Given the description of an element on the screen output the (x, y) to click on. 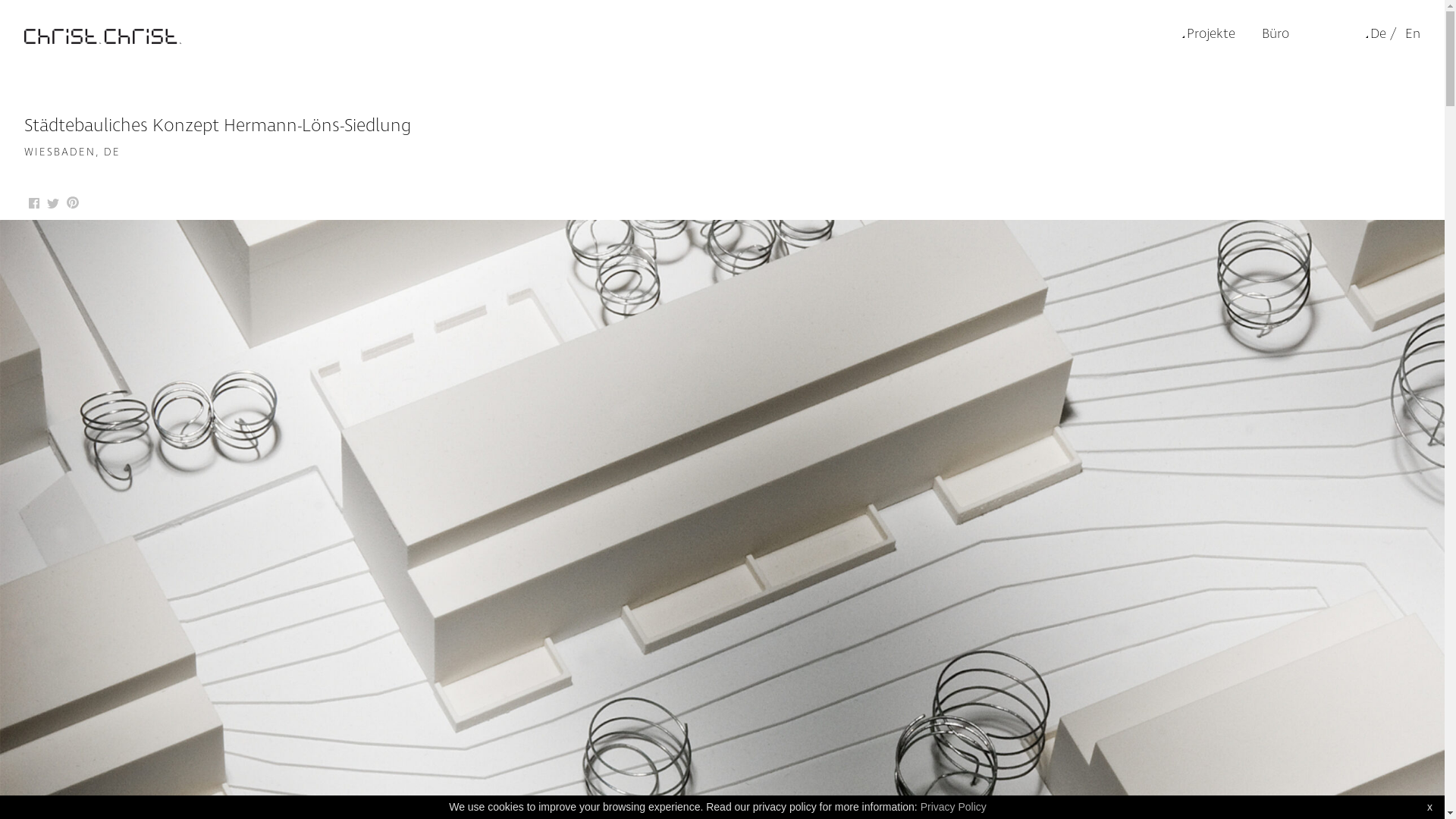
Projekte Element type: text (1208, 33)
De Element type: text (1375, 33)
Privacy Policy Element type: text (953, 806)
En Element type: text (1410, 33)
